Given the description of an element on the screen output the (x, y) to click on. 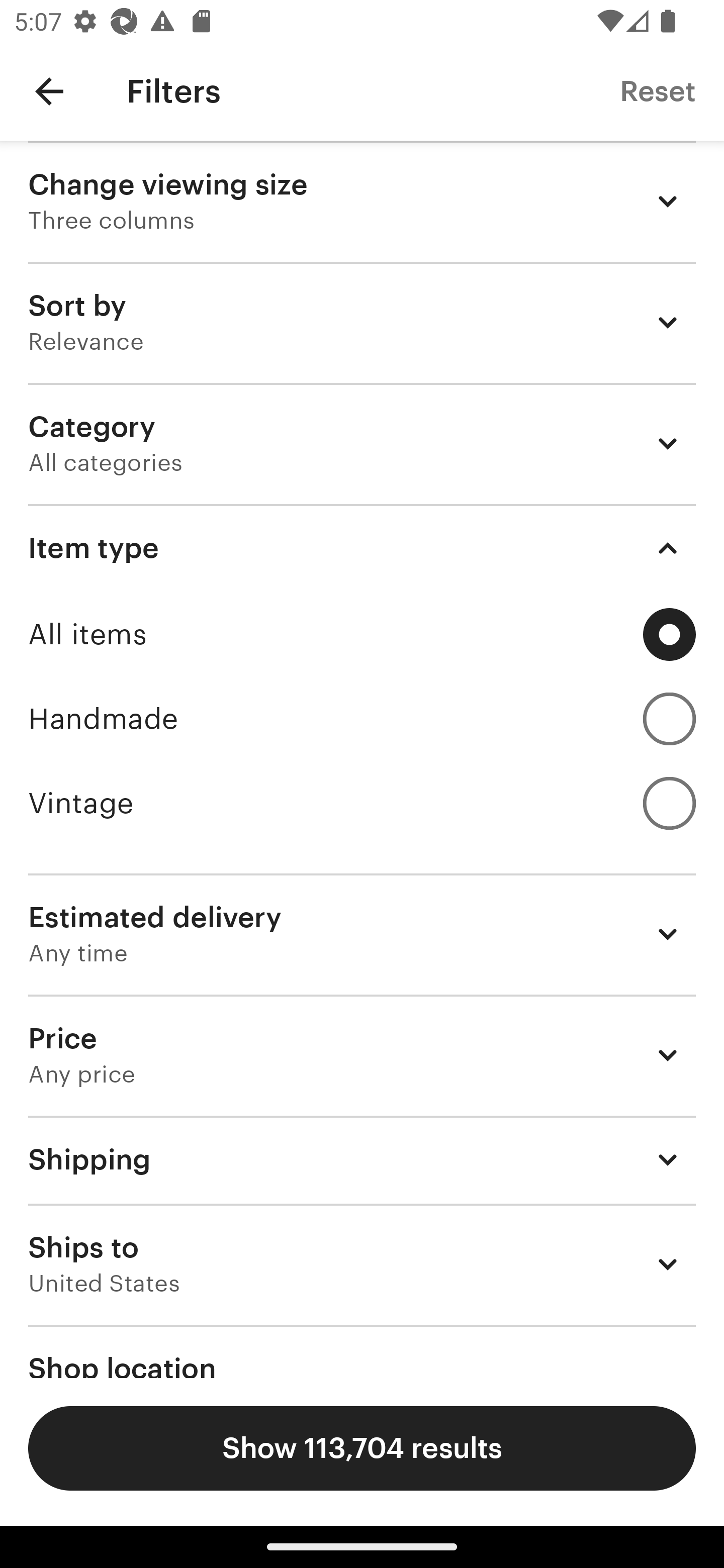
Navigate up (49, 91)
Reset (657, 90)
Change viewing size Three columns (362, 201)
Sort by Relevance (362, 321)
Category All categories (362, 442)
Item type (362, 547)
All items (362, 633)
Handmade (362, 717)
Vintage (362, 802)
Estimated delivery Any time (362, 933)
Price Any price (362, 1055)
Shipping (362, 1160)
Ships to United States (362, 1264)
Shop location (362, 1351)
Show 113,704 results Show results (361, 1448)
